Given the description of an element on the screen output the (x, y) to click on. 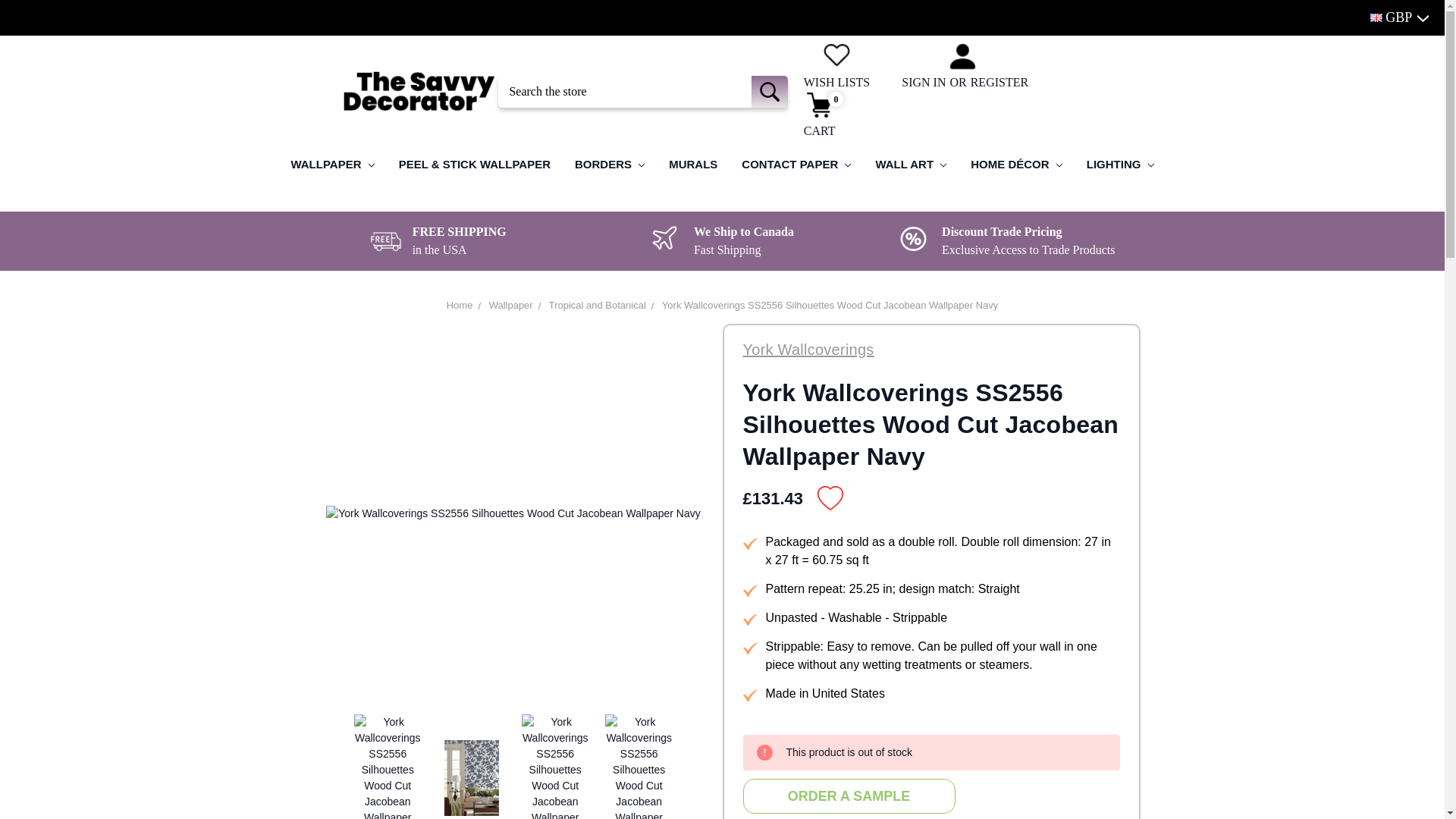
215-330-6053 (721, 17)
